Given the description of an element on the screen output the (x, y) to click on. 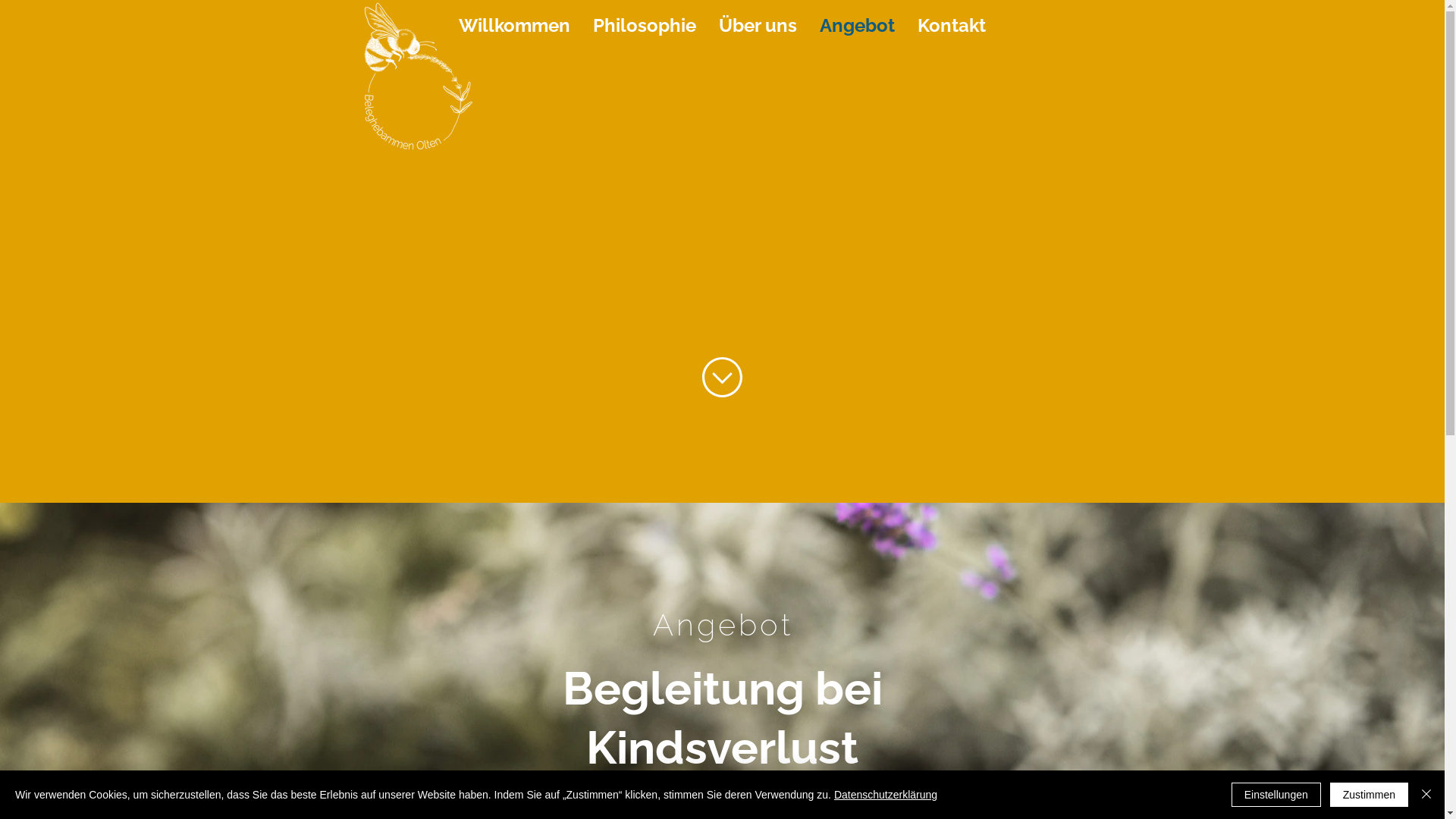
Willkommen Element type: text (514, 23)
Einstellungen Element type: text (1276, 794)
Kontakt Element type: text (951, 23)
Philosophie Element type: text (644, 23)
Angebot Element type: text (857, 23)
Zustimmen Element type: text (1369, 794)
